Given the description of an element on the screen output the (x, y) to click on. 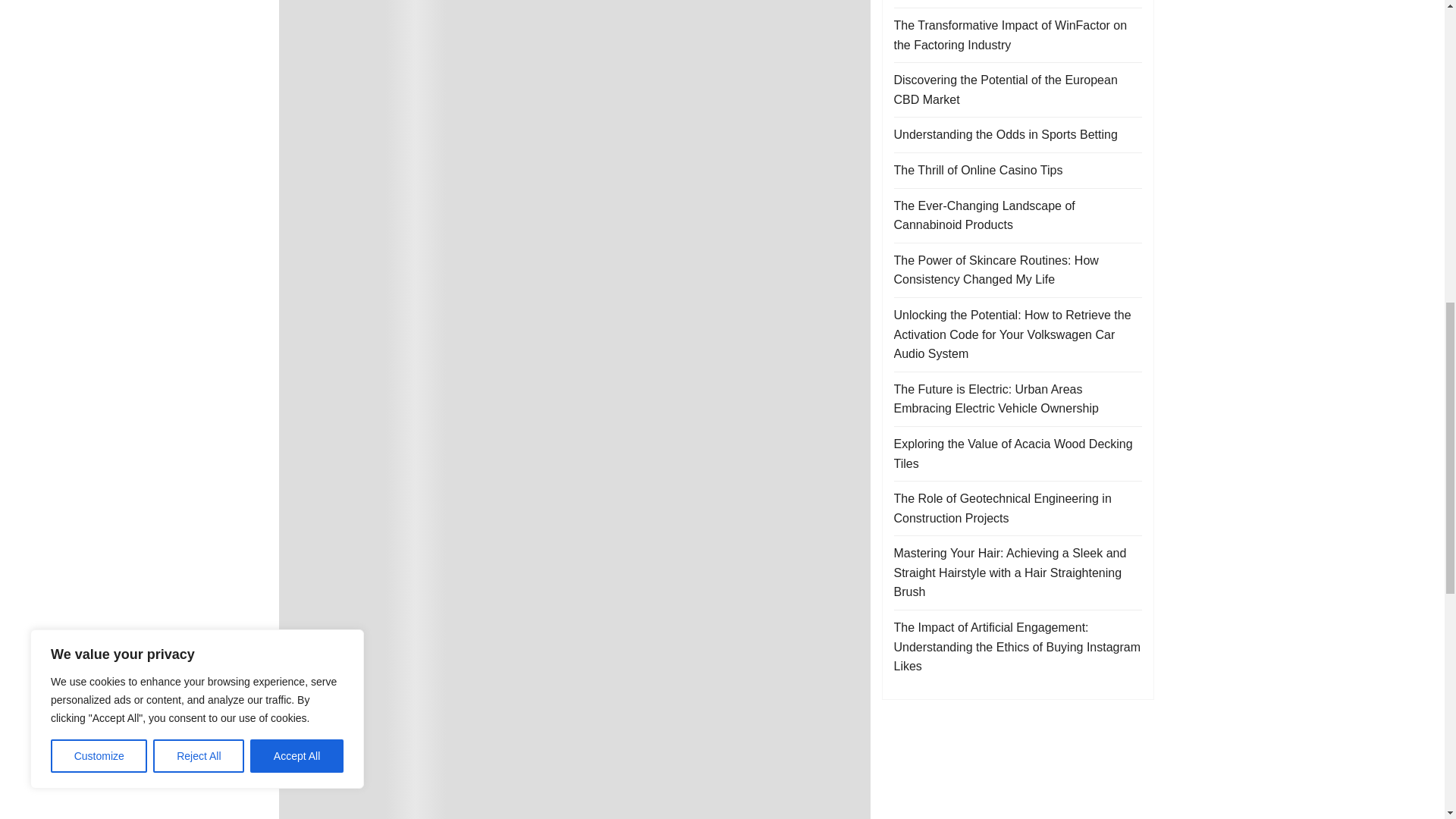
great site (814, 207)
Car Shades (524, 56)
great site (535, 354)
